Given the description of an element on the screen output the (x, y) to click on. 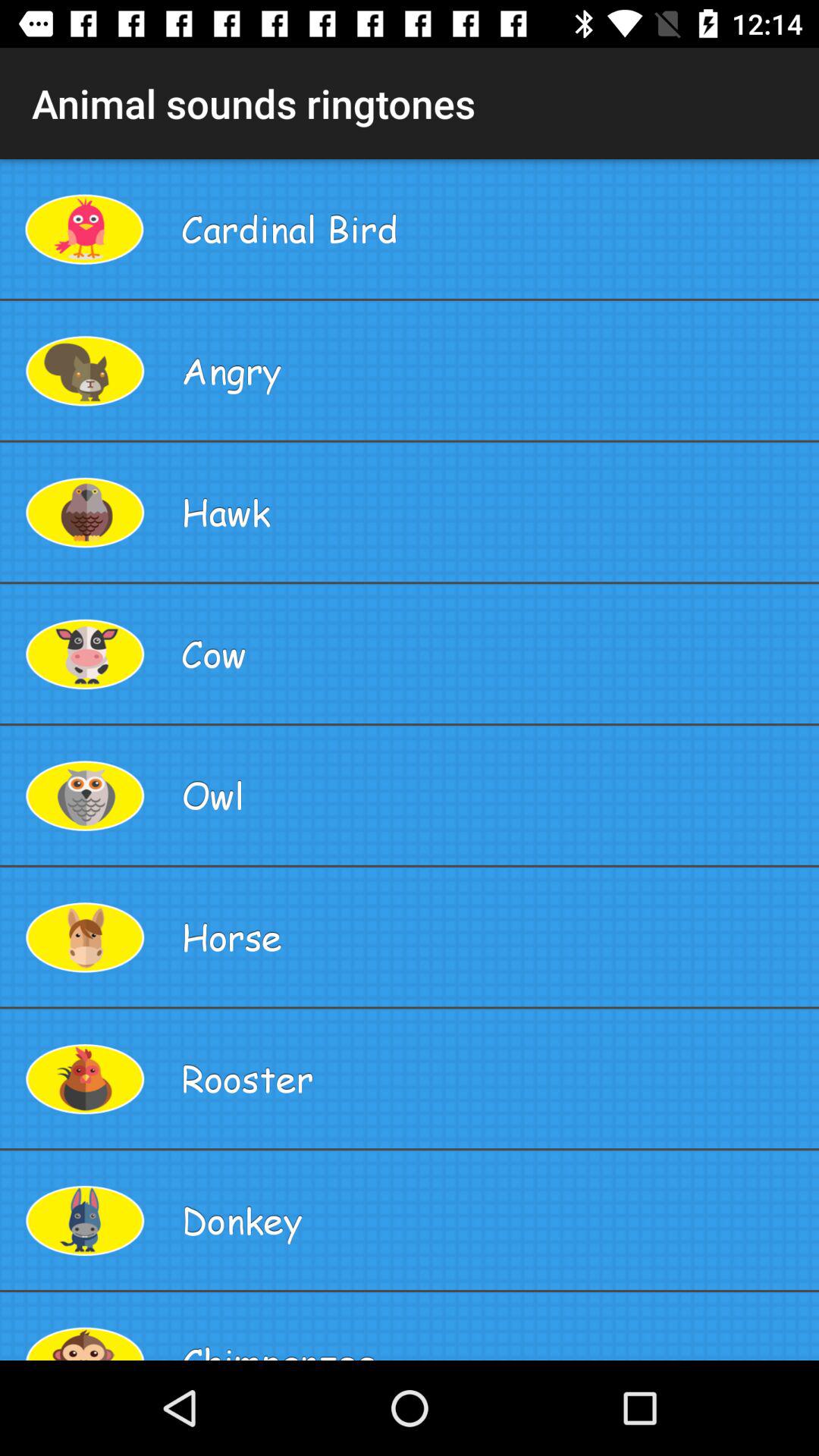
scroll to the horse app (494, 936)
